Given the description of an element on the screen output the (x, y) to click on. 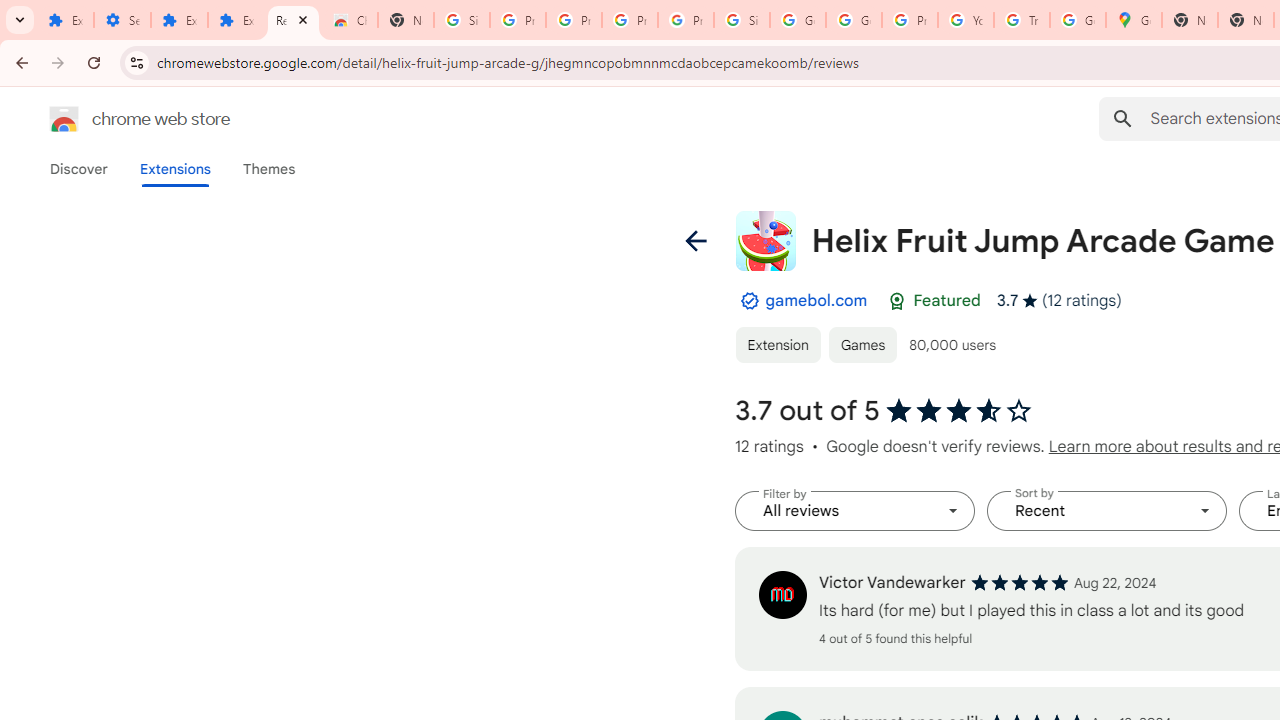
Filter by All reviews (854, 511)
Extensions (174, 169)
Featured Badge (897, 301)
Extensions (65, 20)
5 out of 5 stars (1019, 582)
Average rating 3.7 out of 5 stars. 12 ratings. (1058, 300)
3.7 out of 5 stars (959, 411)
Chrome Web Store - Themes (349, 20)
Item logo image for Helix Fruit Jump Arcade Game (765, 240)
Extension (777, 344)
